Given the description of an element on the screen output the (x, y) to click on. 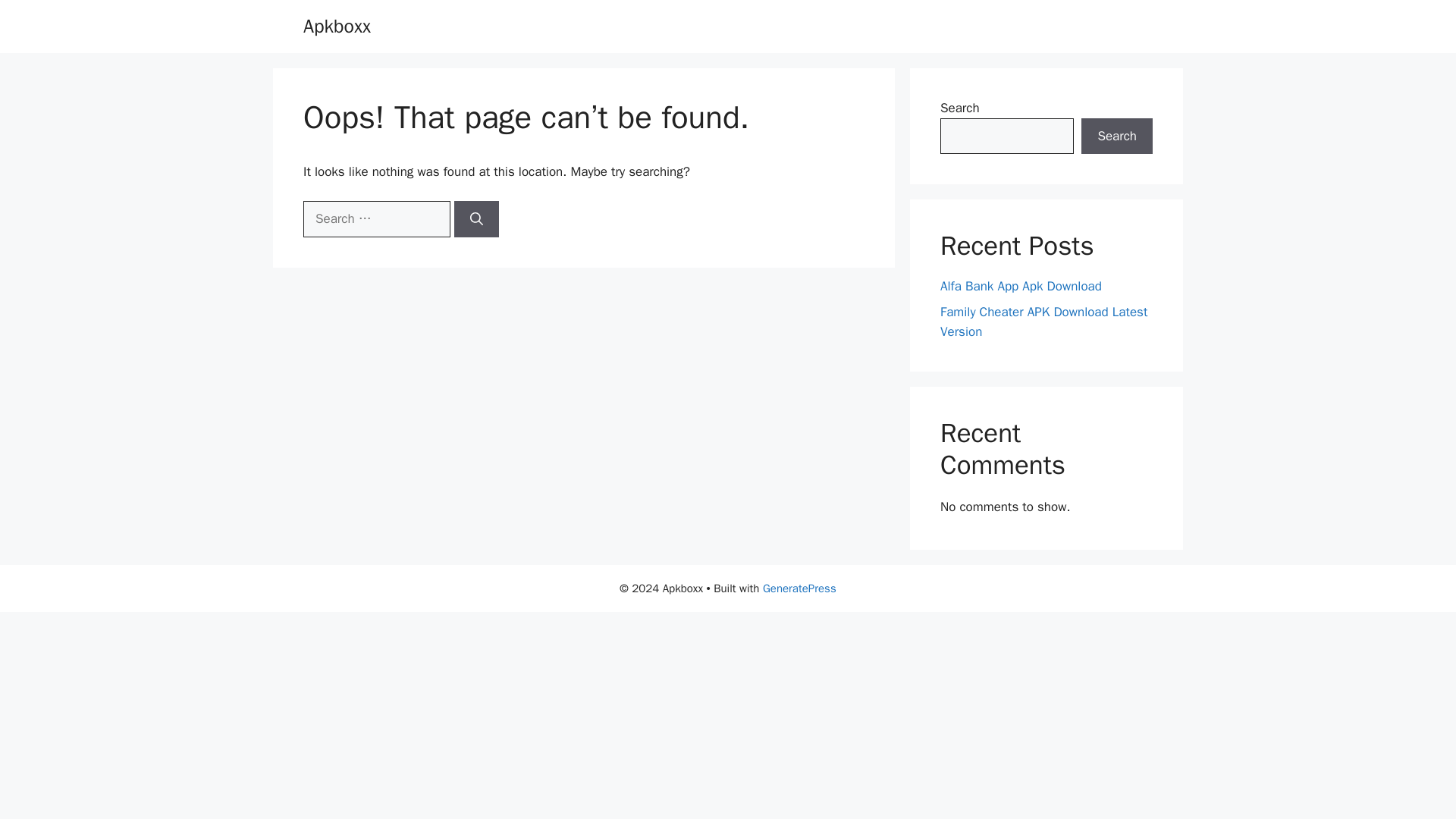
GeneratePress (798, 588)
Alfa Bank App Apk Download (1021, 286)
Apkboxx (336, 25)
Family Cheater APK Download Latest Version (1043, 321)
Search for: (375, 218)
Search (1117, 135)
